Given the description of an element on the screen output the (x, y) to click on. 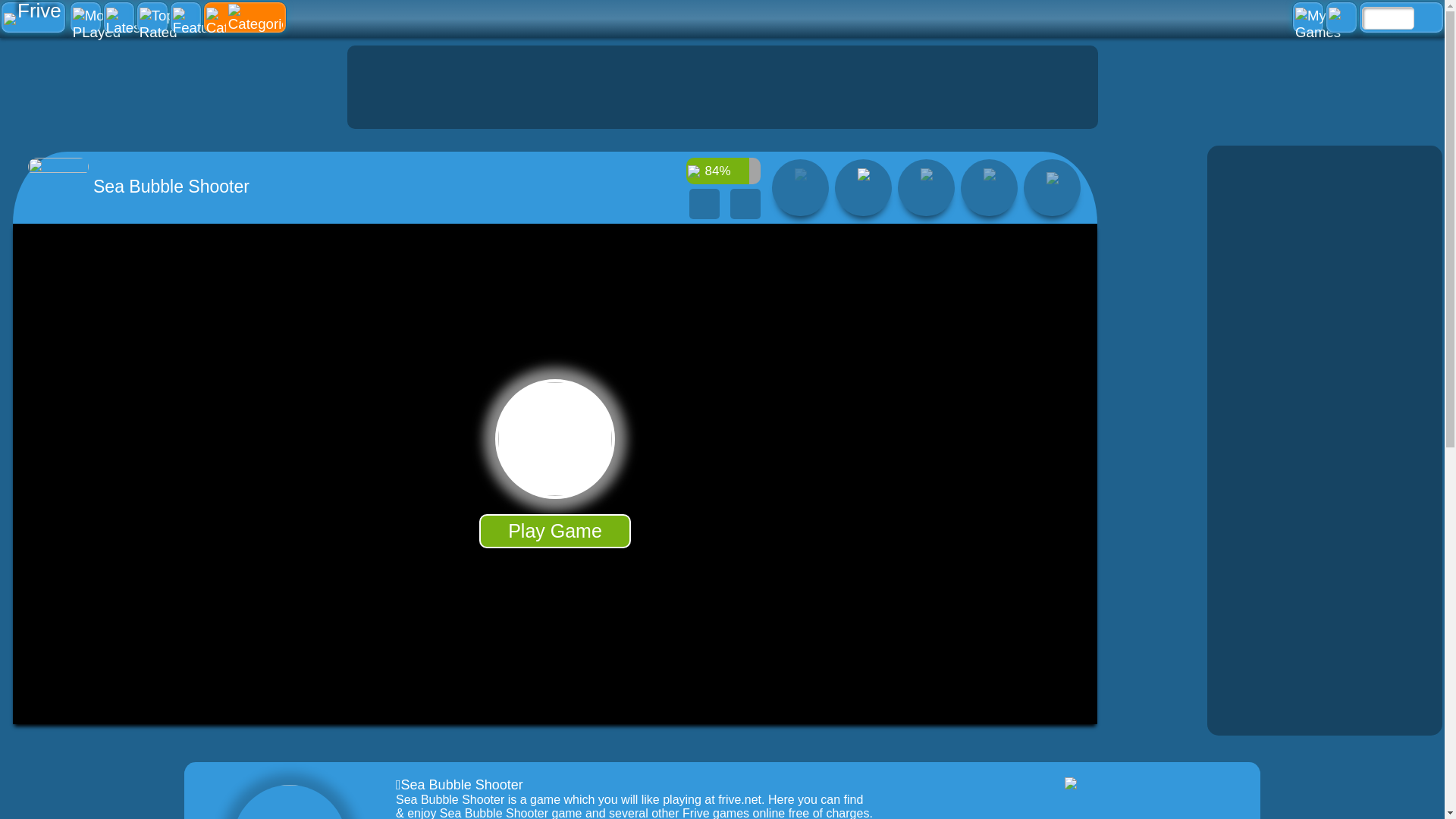
Play Game (554, 530)
Frive (33, 17)
